Given the description of an element on the screen output the (x, y) to click on. 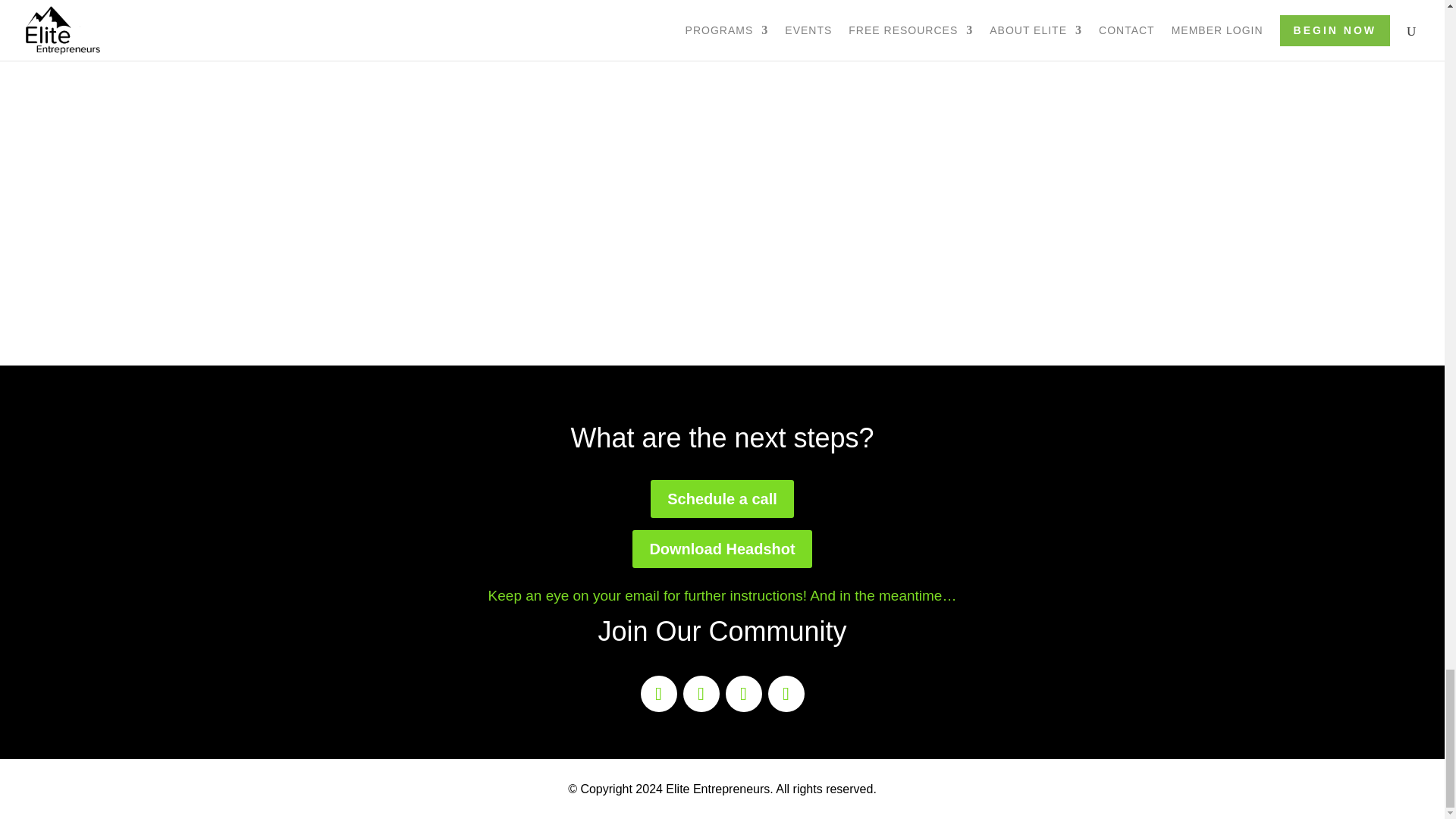
Download Headshot (720, 548)
Follow on X (700, 693)
Follow on Instagram (743, 693)
Follow on LinkedIn (785, 693)
Schedule a call (721, 498)
Follow on Facebook (658, 693)
